Given the description of an element on the screen output the (x, y) to click on. 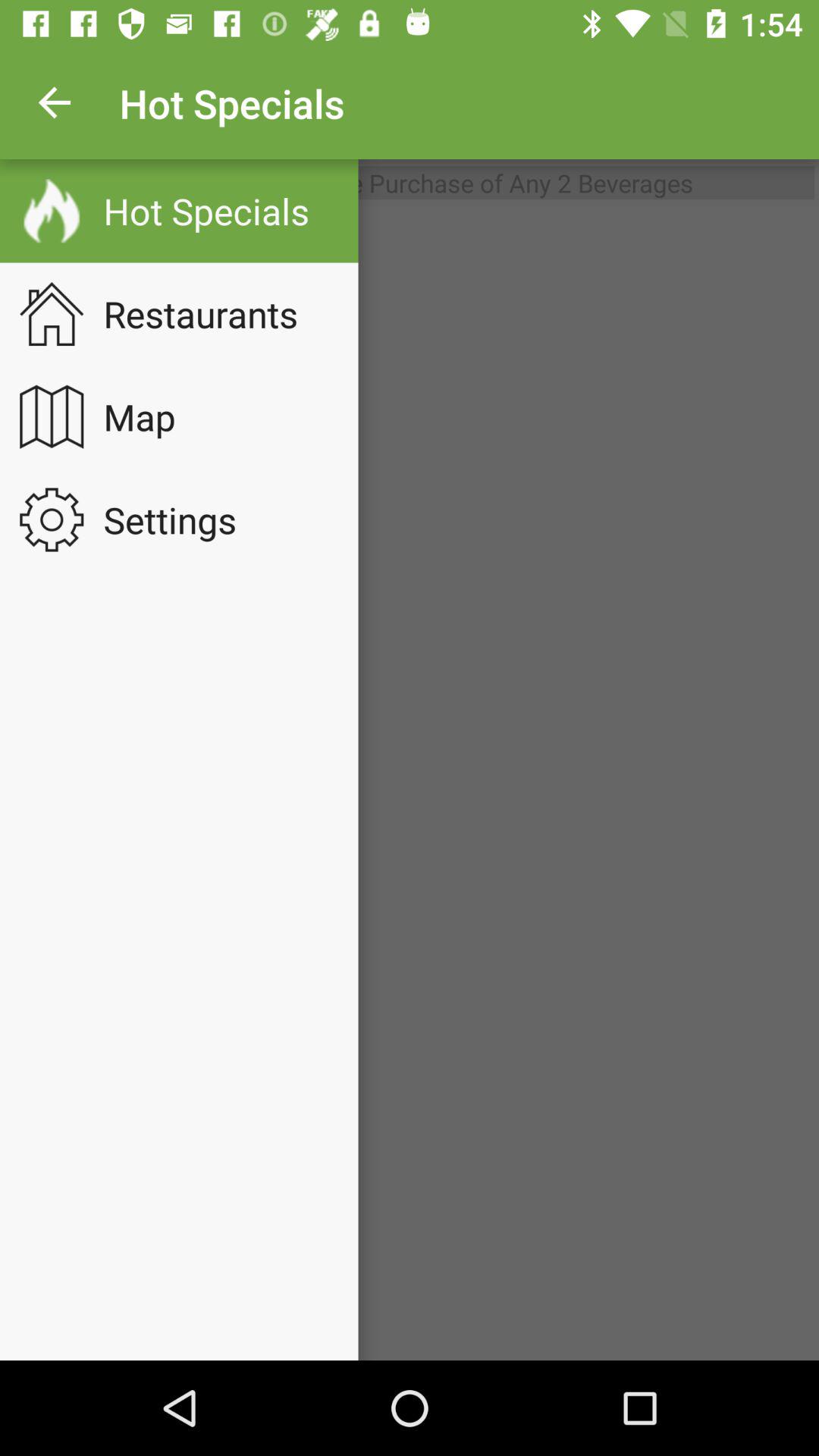
flip to the restaurants (210, 313)
